Given the description of an element on the screen output the (x, y) to click on. 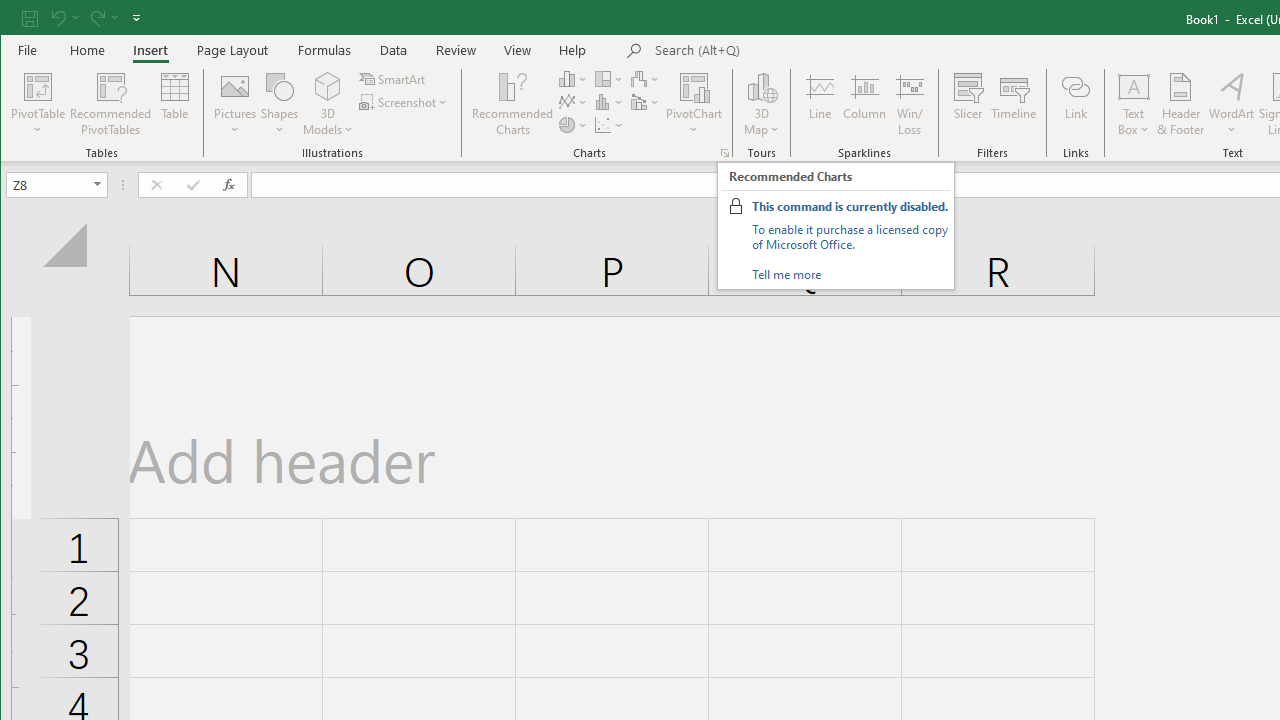
Insert Waterfall, Funnel, Stock, Surface, or Radar Chart (646, 78)
Header & Footer... (1180, 104)
Shapes (279, 104)
Line (819, 104)
Insert Combo Chart (646, 101)
Insert Pie or Doughnut Chart (573, 124)
3D Models (327, 104)
Insert Statistic Chart (609, 101)
Column (864, 104)
